Given the description of an element on the screen output the (x, y) to click on. 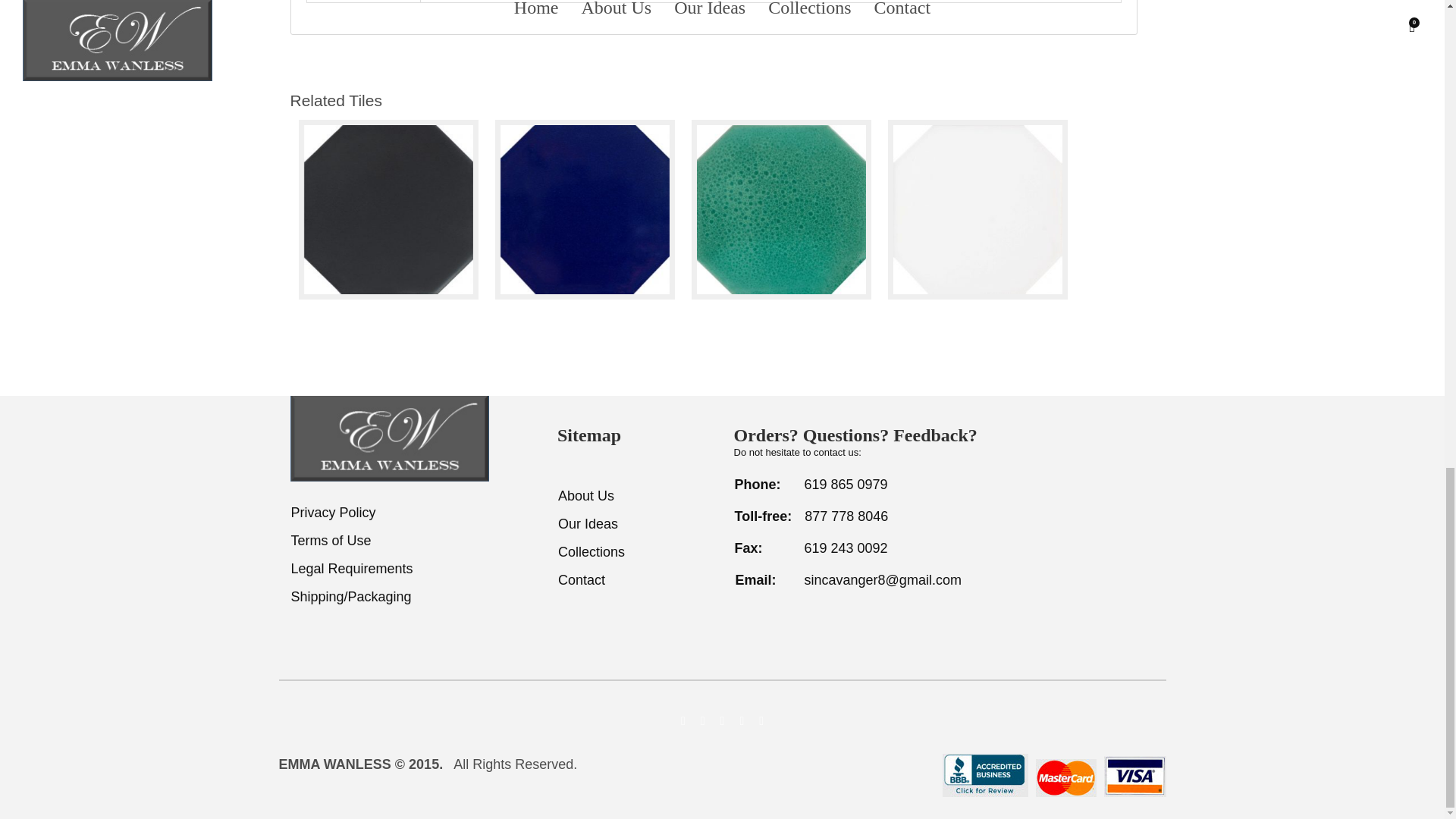
LinkedIn (722, 721)
Facebook (682, 721)
Instagram (741, 721)
Twitter (703, 721)
Pinterest (761, 721)
